Given the description of an element on the screen output the (x, y) to click on. 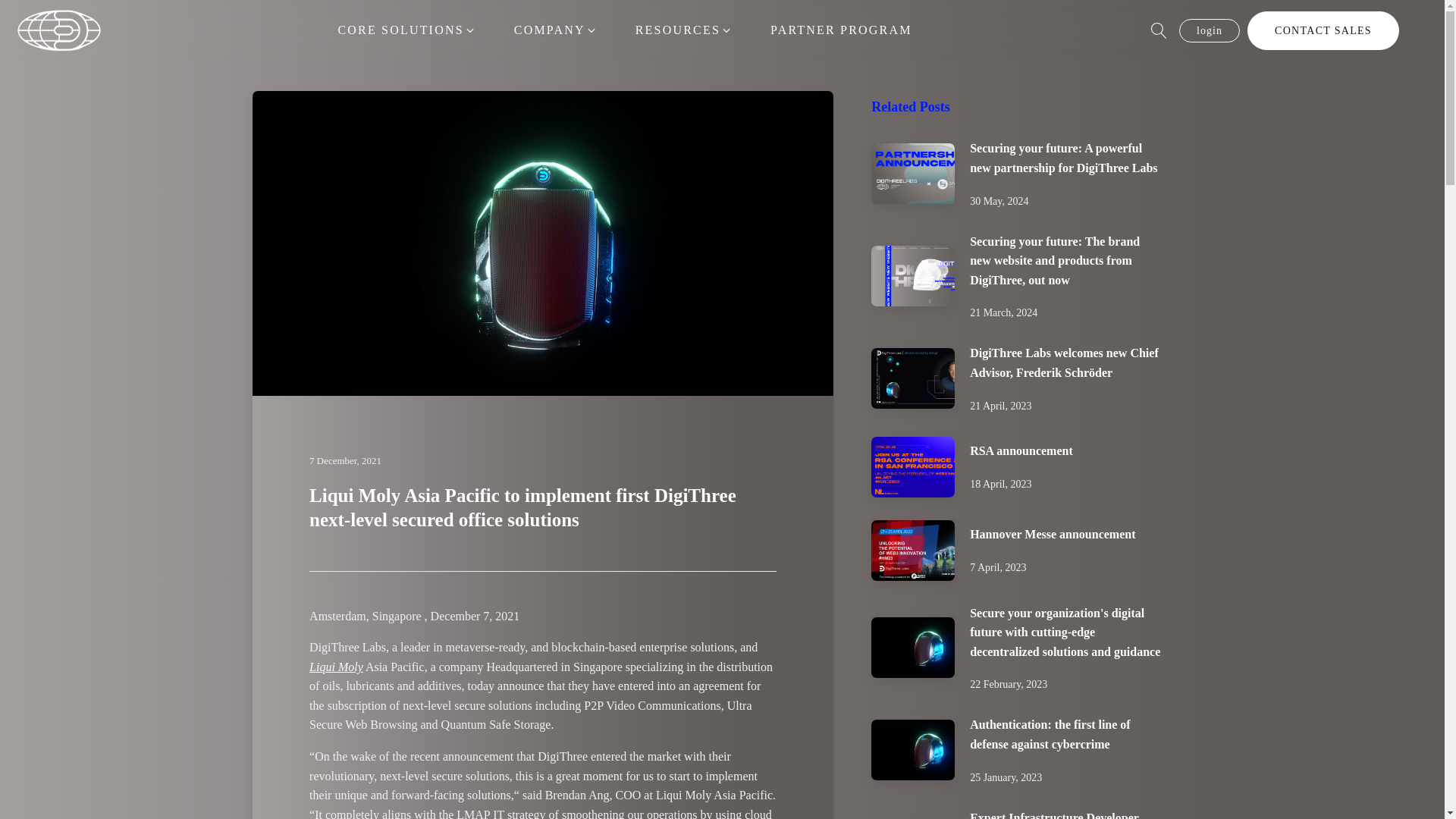
Search (22, 8)
CONTACT SALES (1323, 29)
COMPANY (555, 30)
login (1209, 29)
Liqui Moly (335, 666)
Hannover Messe announcement (1052, 533)
CORE SOLUTIONS (406, 30)
Authentication: the first line of defense against cybercrime (1050, 734)
RESOURCES (683, 30)
